Given the description of an element on the screen output the (x, y) to click on. 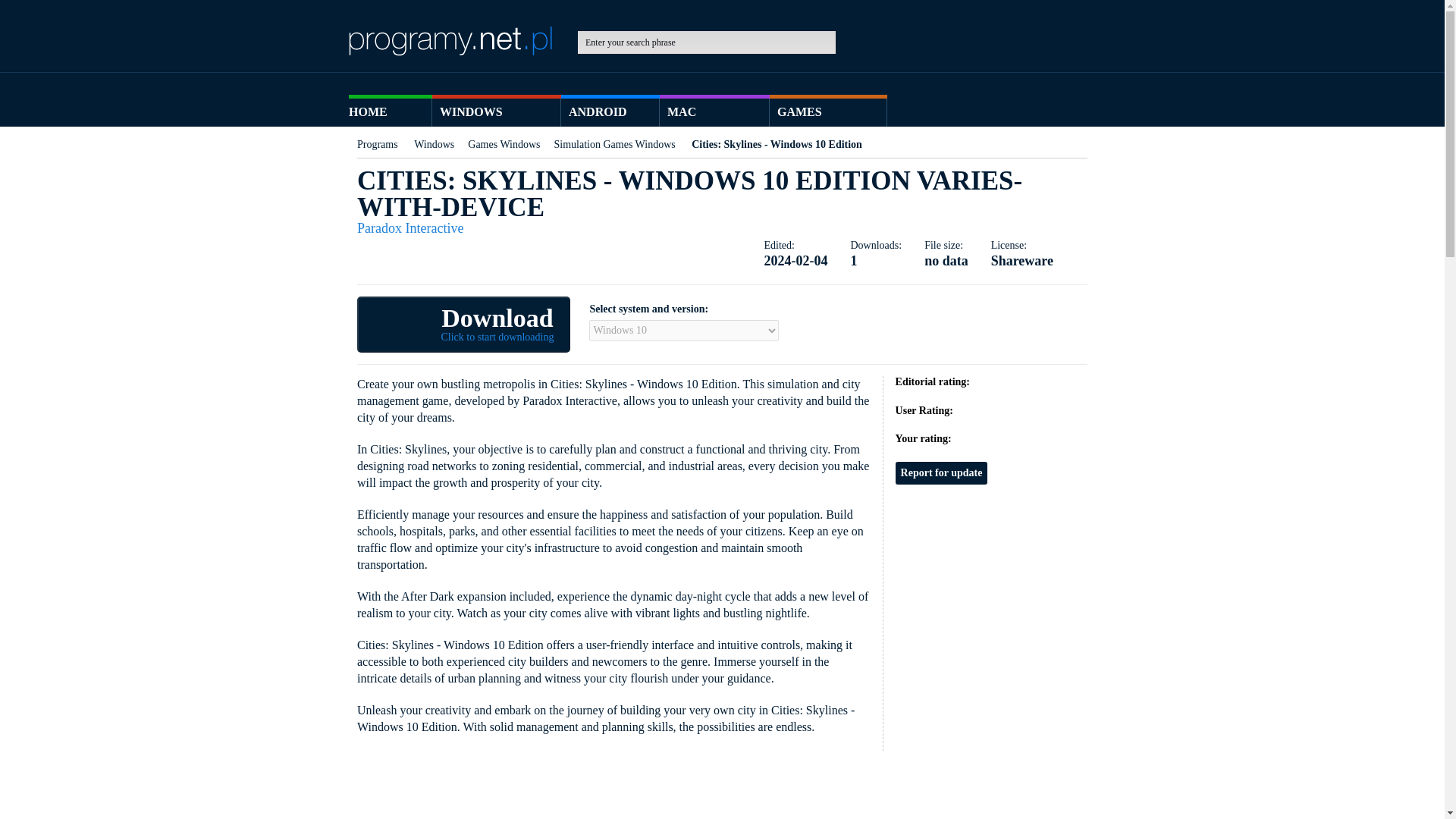
HOME (390, 112)
Games Windows (503, 143)
WINDOWS (496, 112)
Report for update (941, 472)
Programs (376, 143)
search (848, 42)
Windows (433, 143)
GAMES (463, 324)
Cities: Skylines - Windows 10 Edition (828, 112)
